Given the description of an element on the screen output the (x, y) to click on. 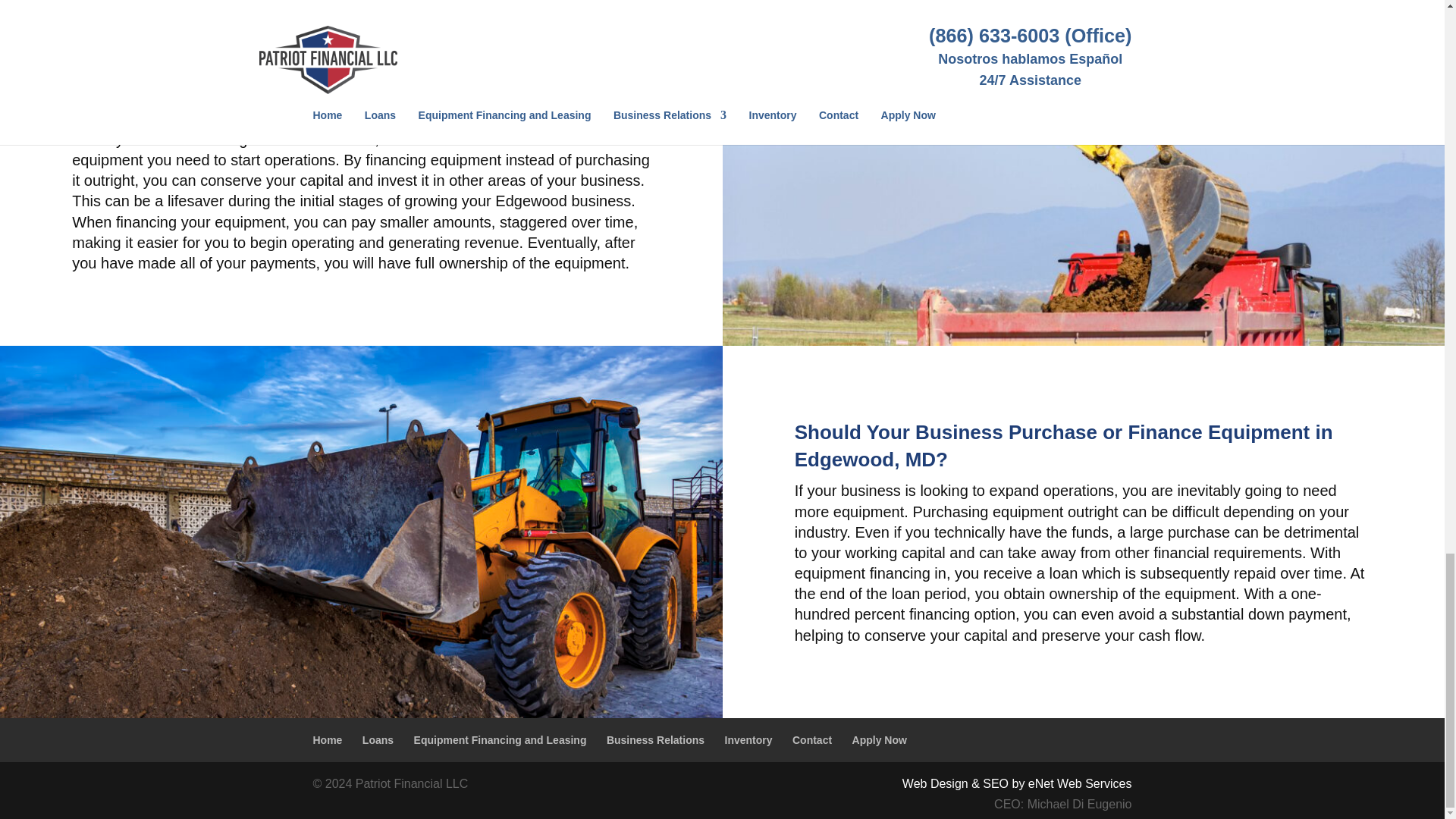
Loans (377, 739)
Home (327, 739)
Apply Now (879, 739)
Equipment Financing and Leasing (499, 739)
Contact (811, 739)
Inventory (749, 739)
Business Relations (655, 739)
